Given the description of an element on the screen output the (x, y) to click on. 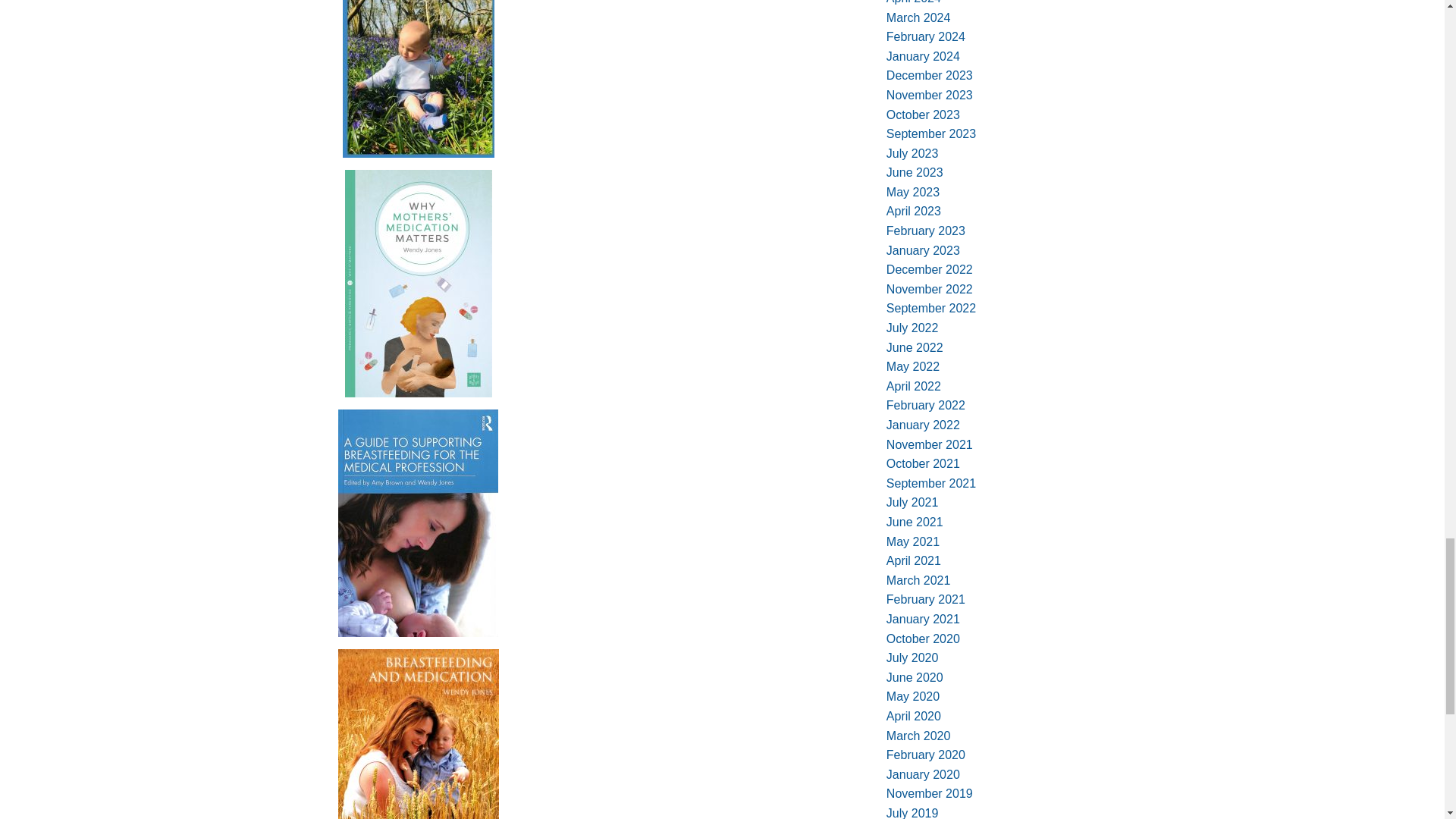
Breastfeeding and Chronic Medical Conditions, Wendy Jones (418, 79)
Why Mothers Medication Matters, Wendy Jones (418, 283)
Breastfeeding and Medication, Wendy Jones (418, 734)
